Given the description of an element on the screen output the (x, y) to click on. 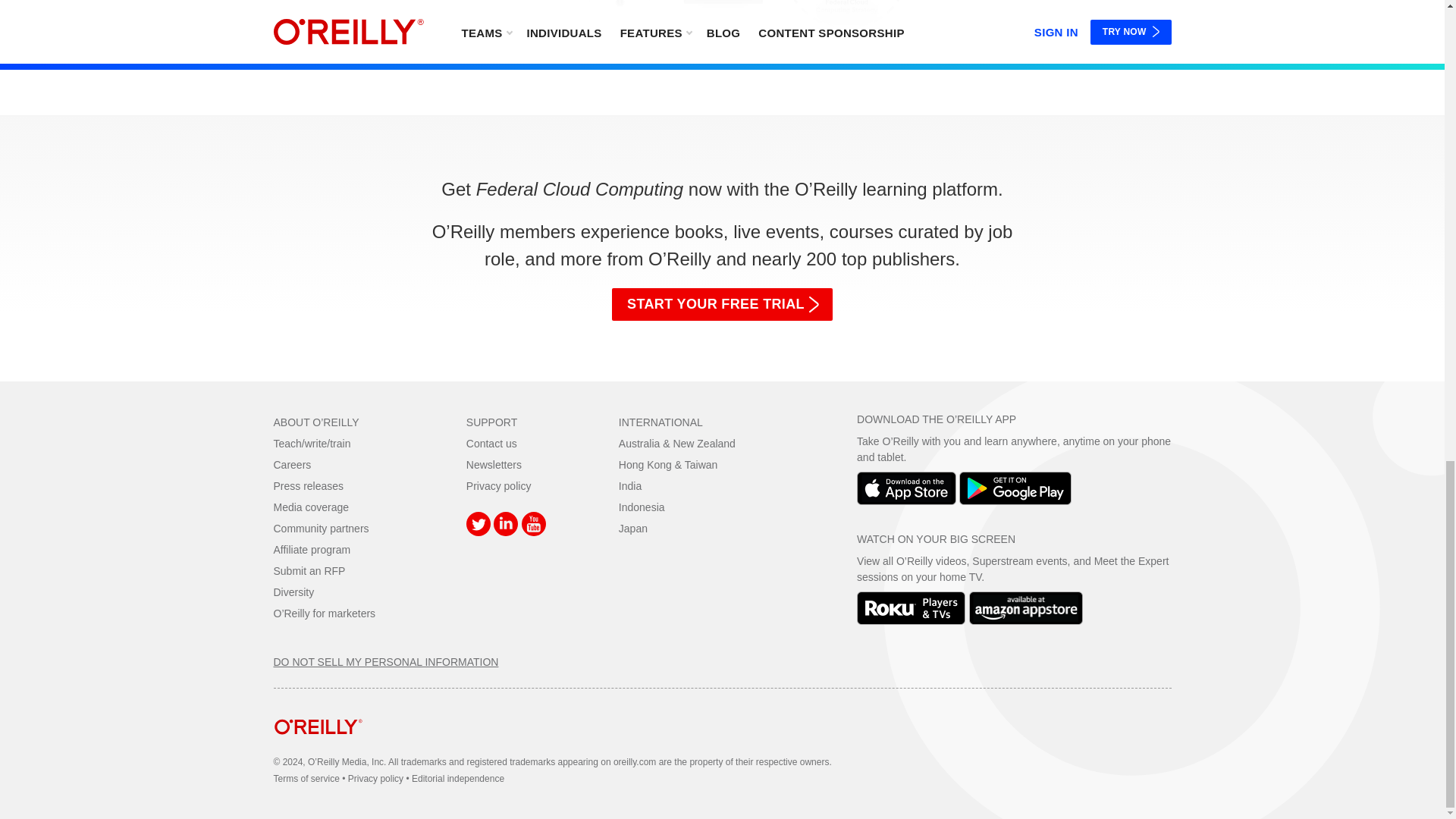
Contact us (490, 443)
Careers (292, 464)
Media coverage (311, 507)
home page (317, 745)
SUPPORT (490, 422)
Diversity (293, 592)
Community partners (320, 528)
Affiliate program (311, 549)
Newsletters (493, 464)
Submit an RFP (309, 571)
START YOUR FREE TRIAL (721, 304)
Press releases (308, 485)
